Given the description of an element on the screen output the (x, y) to click on. 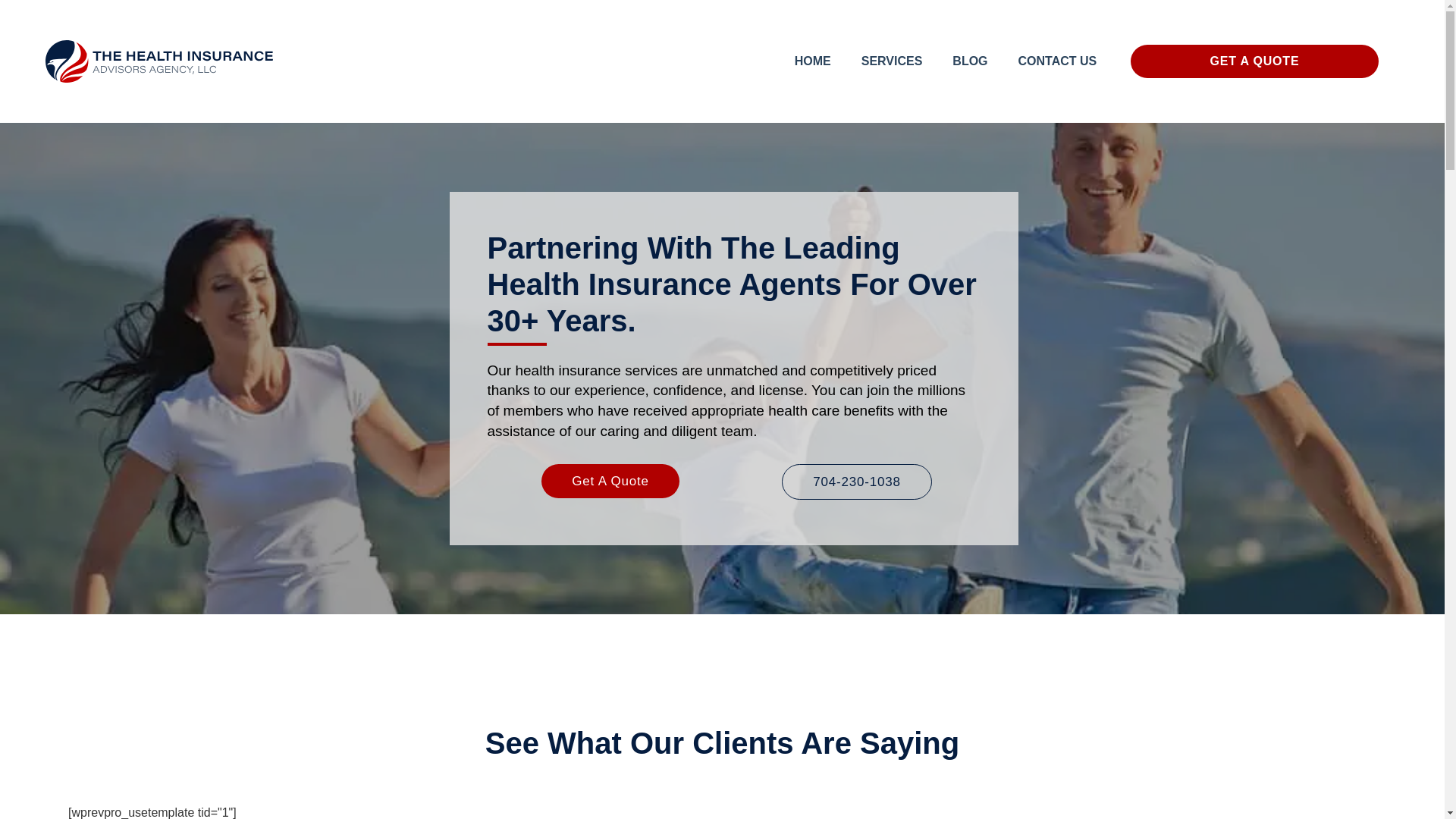
Get A Quote (609, 480)
SERVICES (891, 61)
health insurance (567, 370)
704-230-1038 (856, 481)
HOME (811, 61)
CONTACT US (1057, 61)
GET A QUOTE (1254, 61)
BLOG (970, 61)
